Given the description of an element on the screen output the (x, y) to click on. 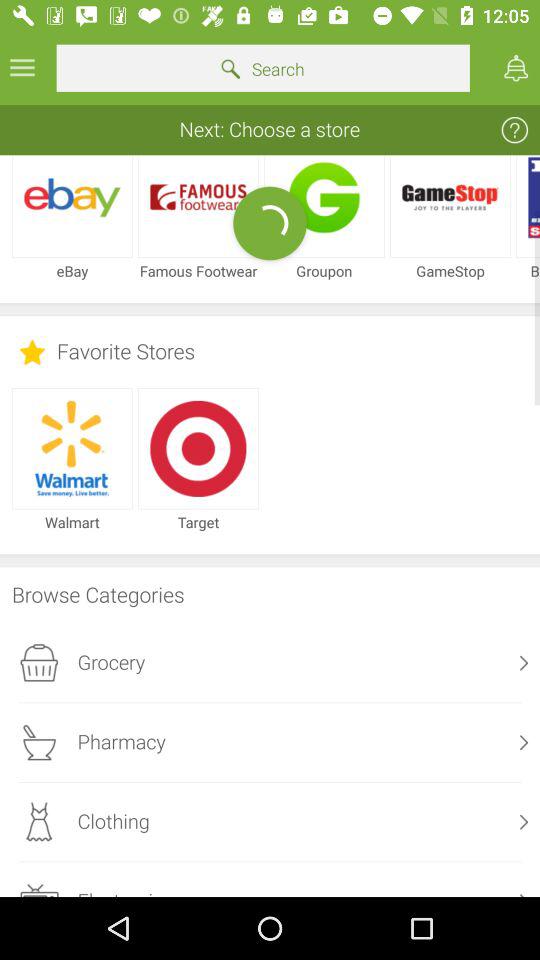
select the last icon of the page (38, 889)
click on arrow symbol beside grocery (524, 663)
click on arrow symbol beside pharmacy (524, 742)
select the icon which is left side of the grocery (38, 663)
